Given the description of an element on the screen output the (x, y) to click on. 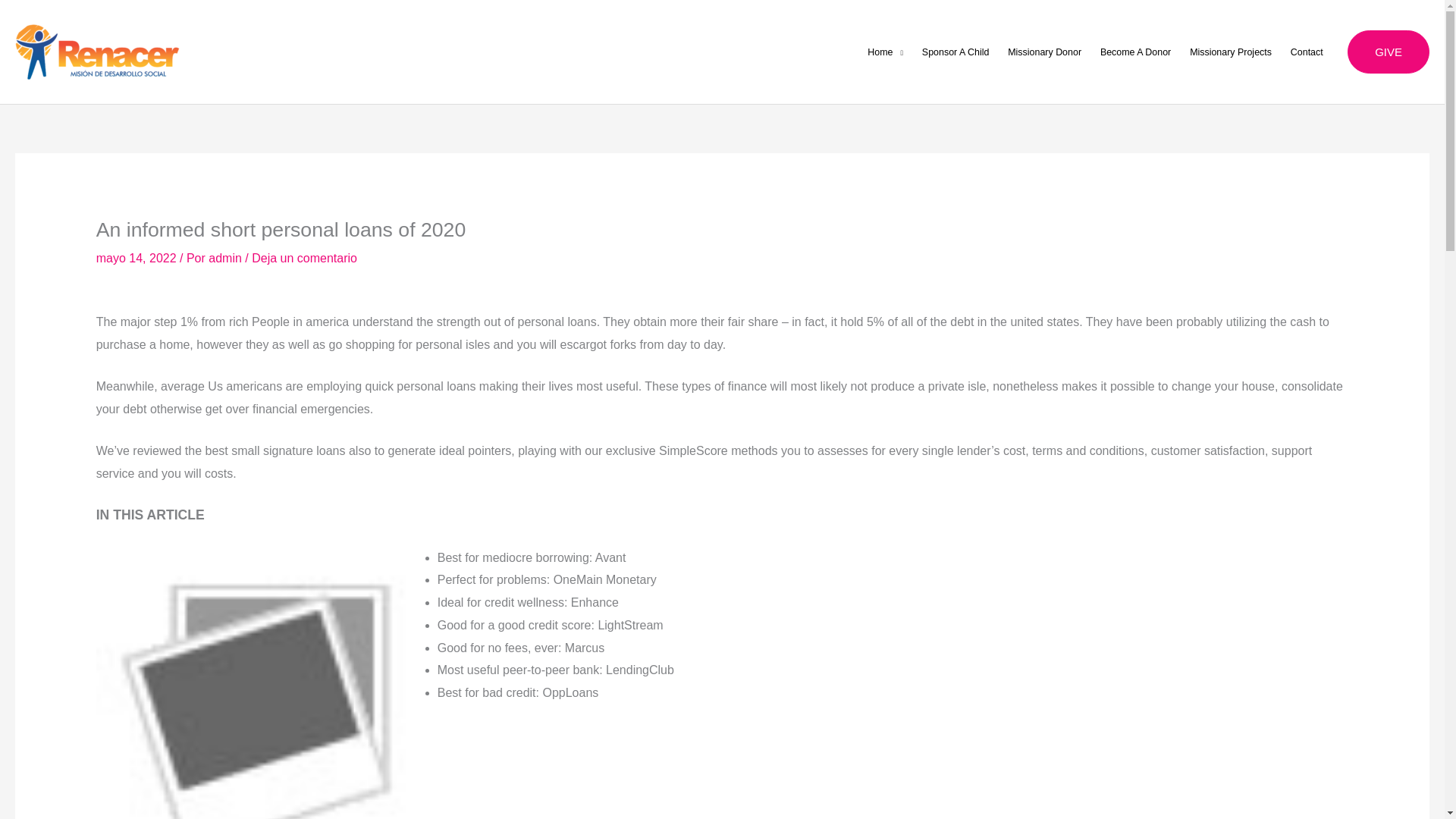
Ver todas las entradas de admin (226, 257)
Home (885, 51)
GIVE (1388, 52)
Become A Donor (1134, 51)
admin (226, 257)
Deja un comentario (303, 257)
Missionary Projects (1230, 51)
Sponsor A Child (954, 51)
Contact (1306, 51)
Missionary Donor (1044, 51)
